Given the description of an element on the screen output the (x, y) to click on. 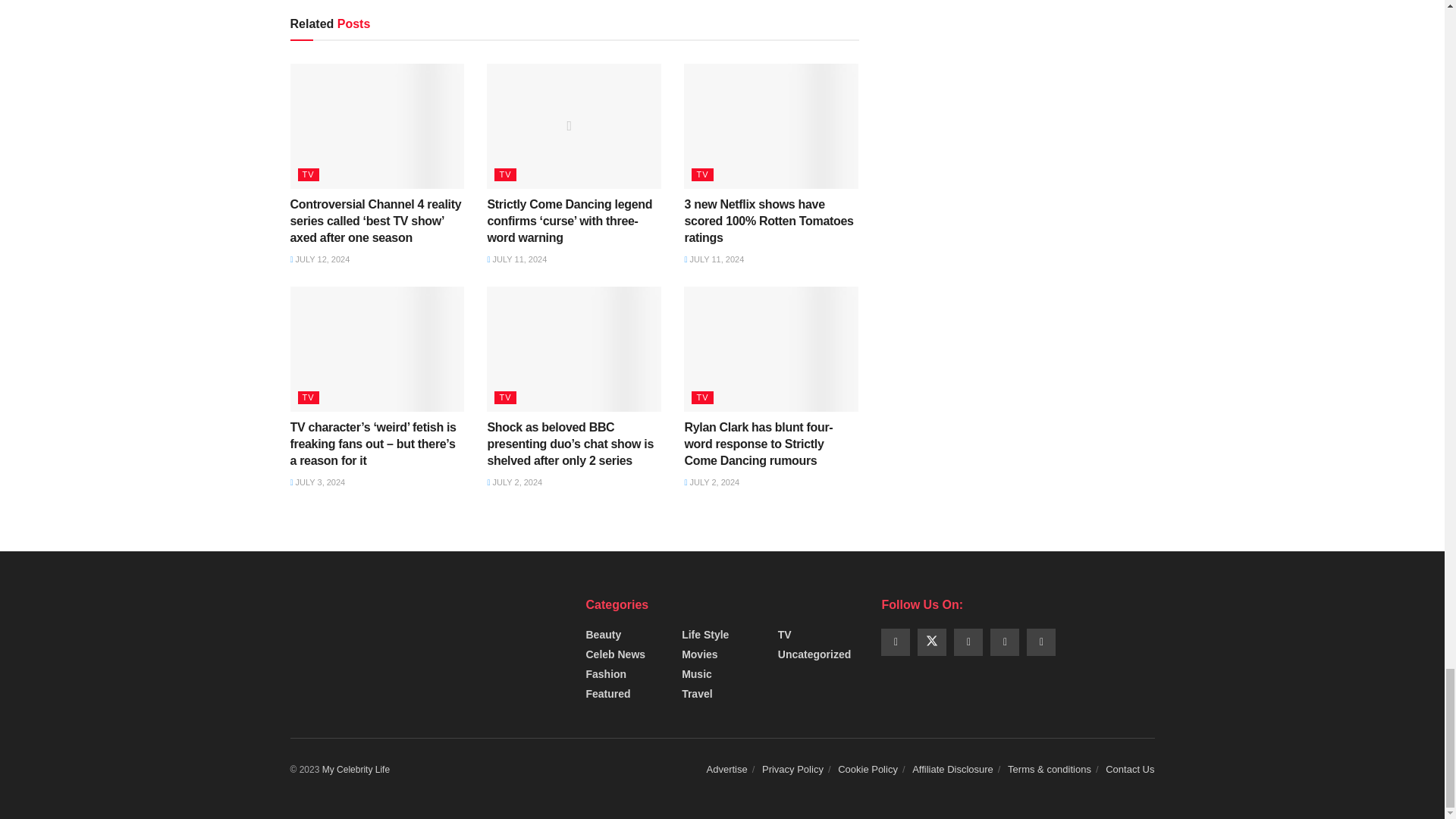
My Celebrity Life (355, 769)
